Given the description of an element on the screen output the (x, y) to click on. 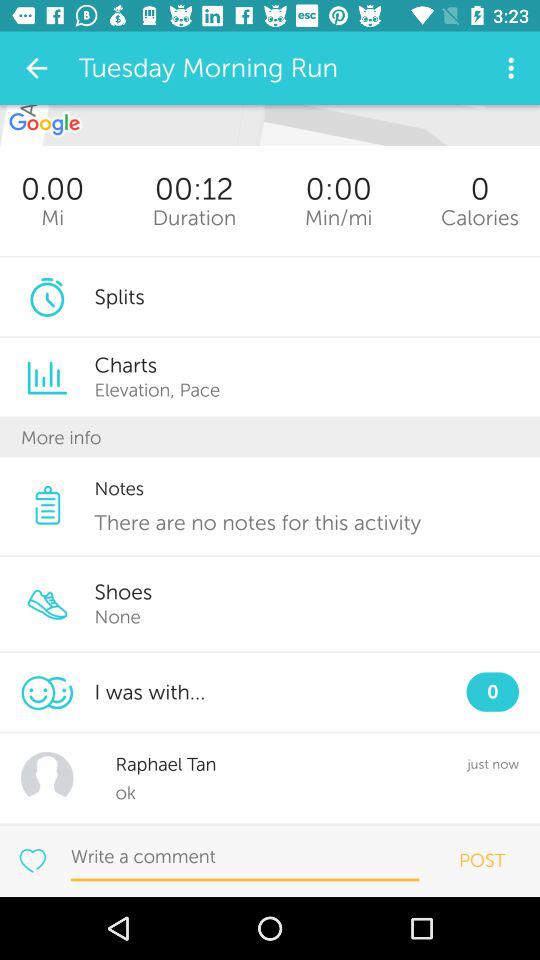
swipe until the calories icon (479, 217)
